Given the description of an element on the screen output the (x, y) to click on. 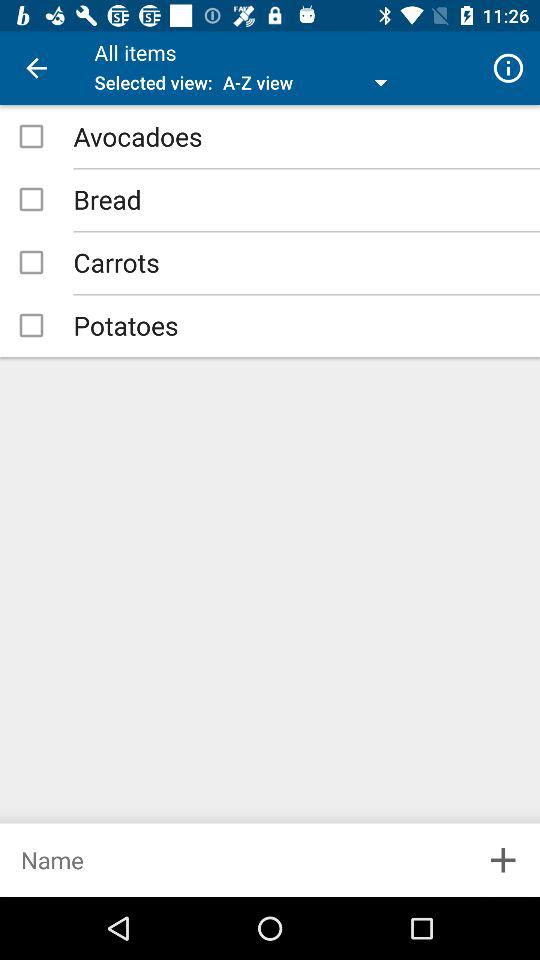
type in the name (233, 860)
